Given the description of an element on the screen output the (x, y) to click on. 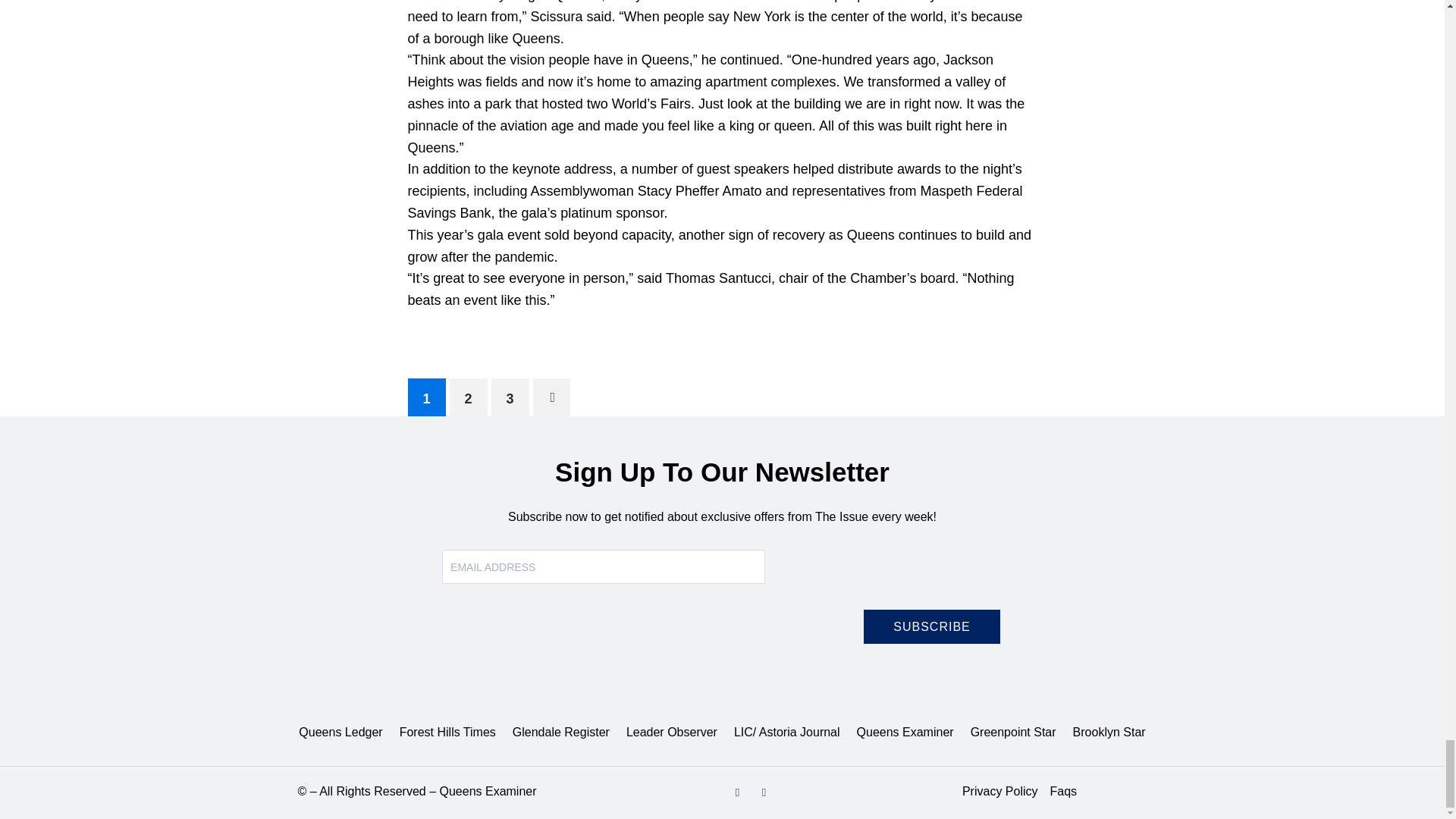
Subscribe (931, 626)
